Given the description of an element on the screen output the (x, y) to click on. 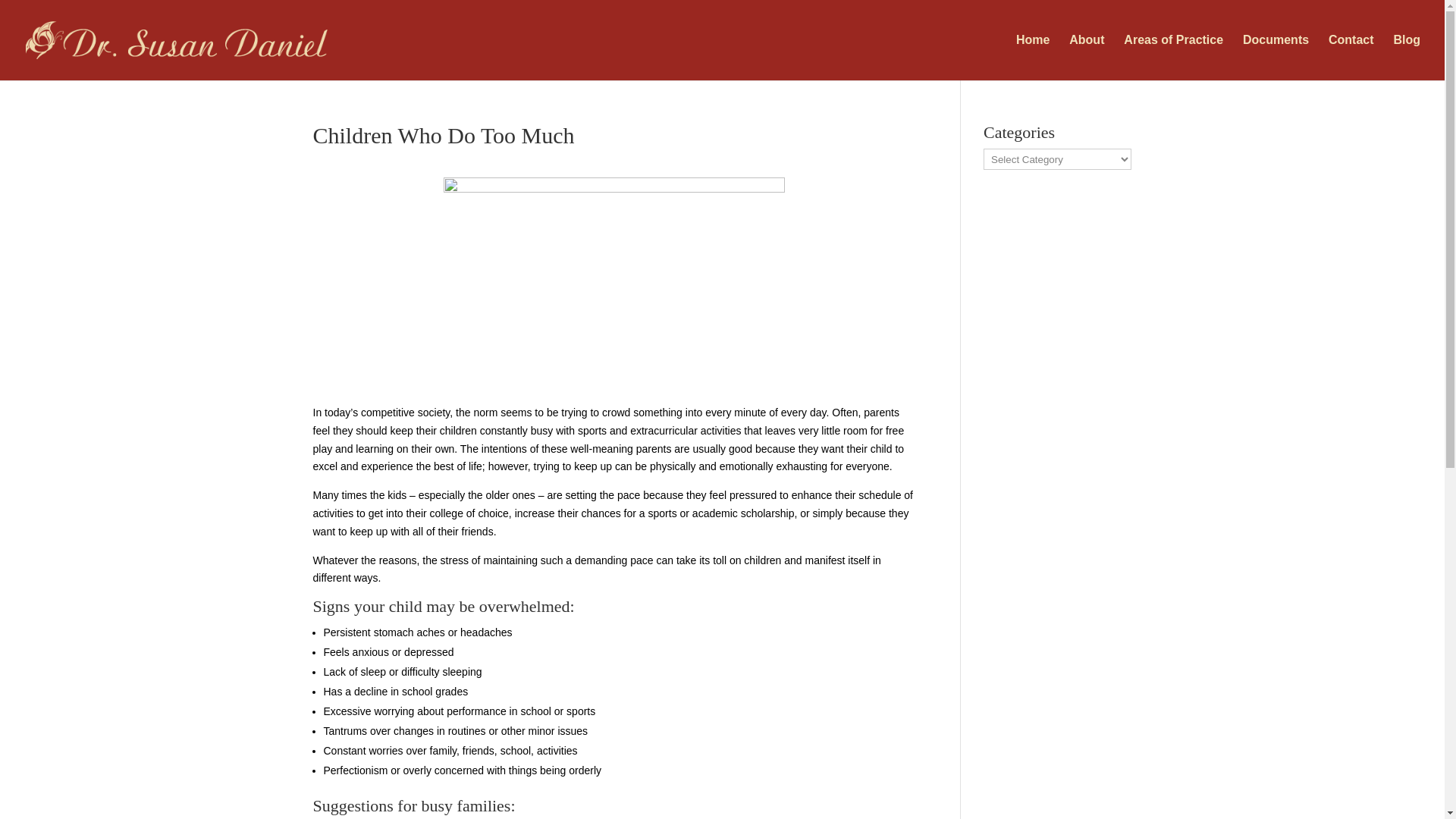
Areas of Practice (1173, 57)
Contact (1350, 57)
Documents (1275, 57)
